Given the description of an element on the screen output the (x, y) to click on. 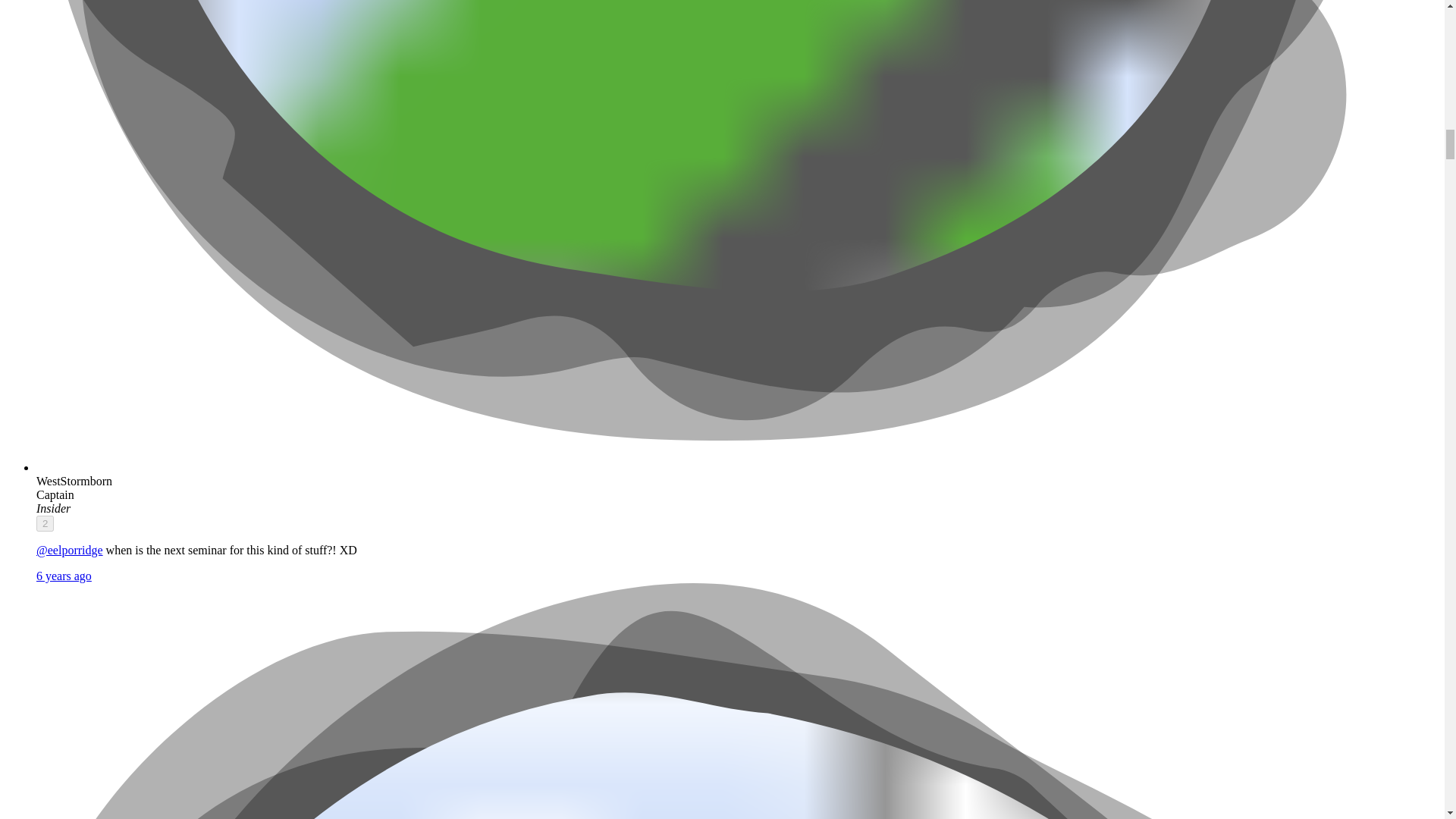
Show Voters (44, 523)
6 years ago (63, 575)
2 (44, 523)
